Given the description of an element on the screen output the (x, y) to click on. 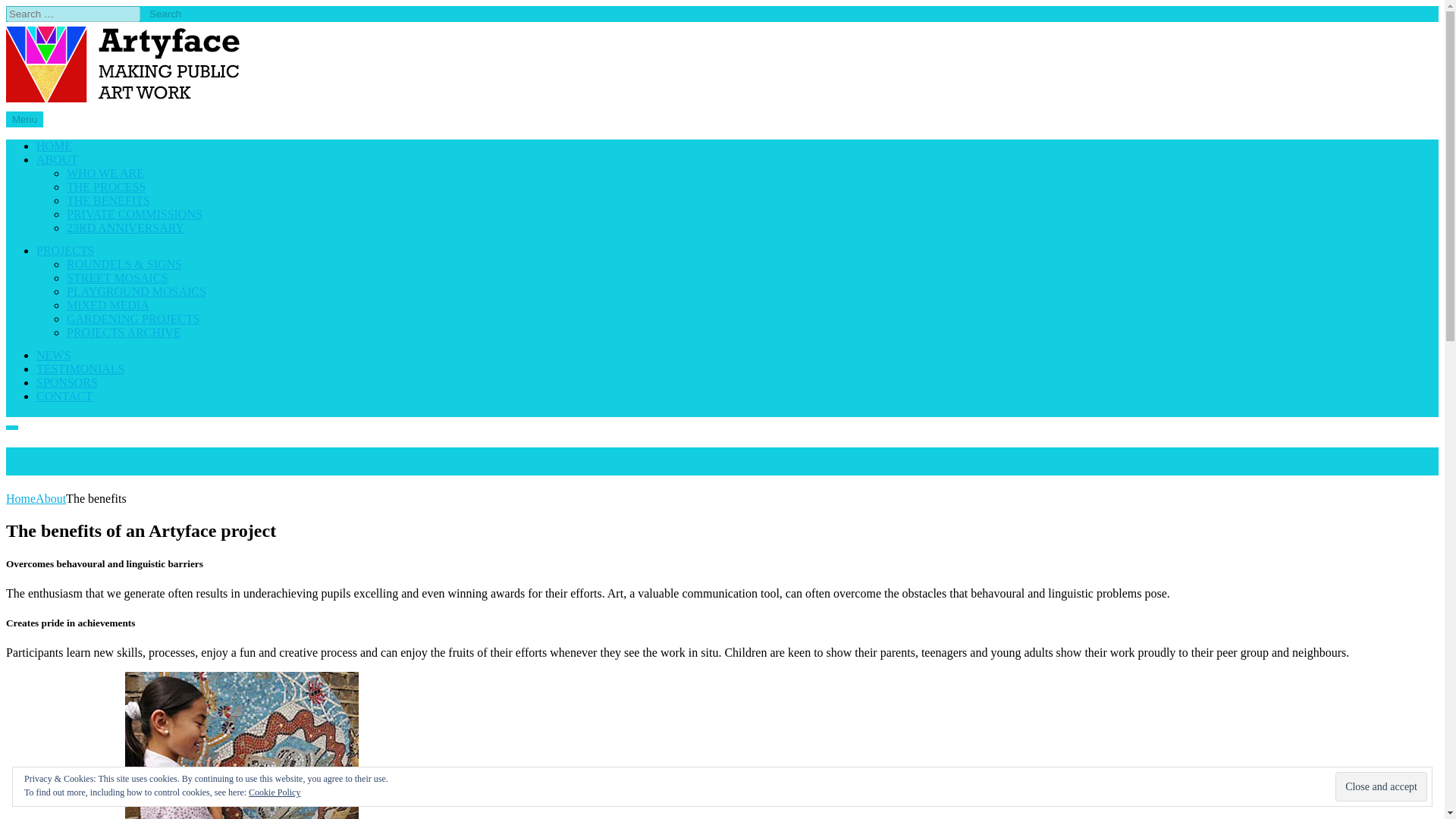
WHO WE ARE (105, 173)
PLAYGROUND MOSAICS (136, 291)
Search (164, 13)
PROJECTS ARCHIVE (123, 332)
Maud Milton Mosaics and Artyface (92, 129)
expand child menu (84, 163)
Home (19, 498)
23RD ANNIVERSARY (125, 227)
expand child menu (100, 254)
